Given the description of an element on the screen output the (x, y) to click on. 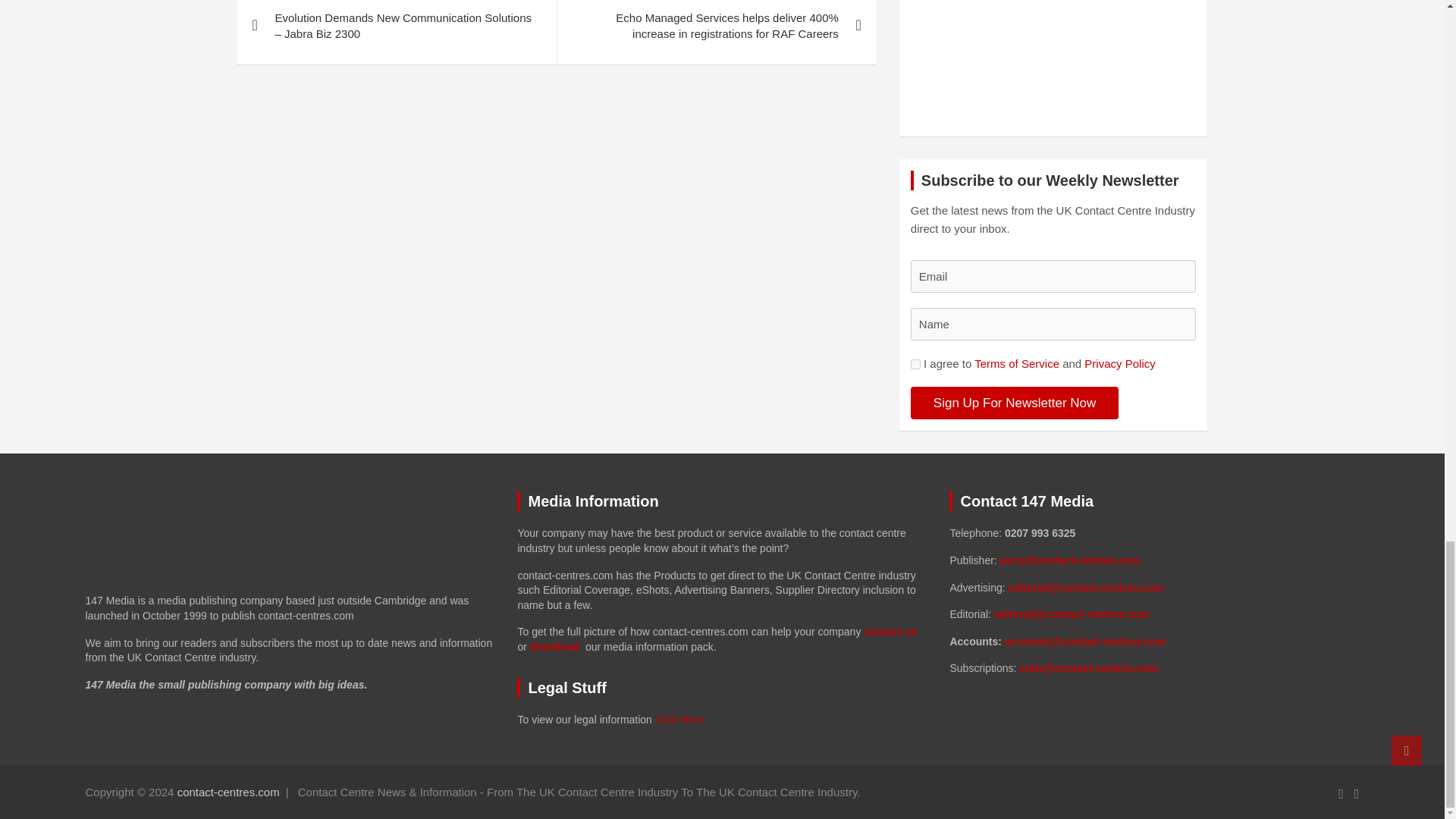
contact-centres.com (228, 791)
1 (915, 364)
Name (1053, 323)
Sign Up For Newsletter Now (1014, 403)
Email (1053, 276)
Shift-click to edit this widget. (1153, 601)
